Given the description of an element on the screen output the (x, y) to click on. 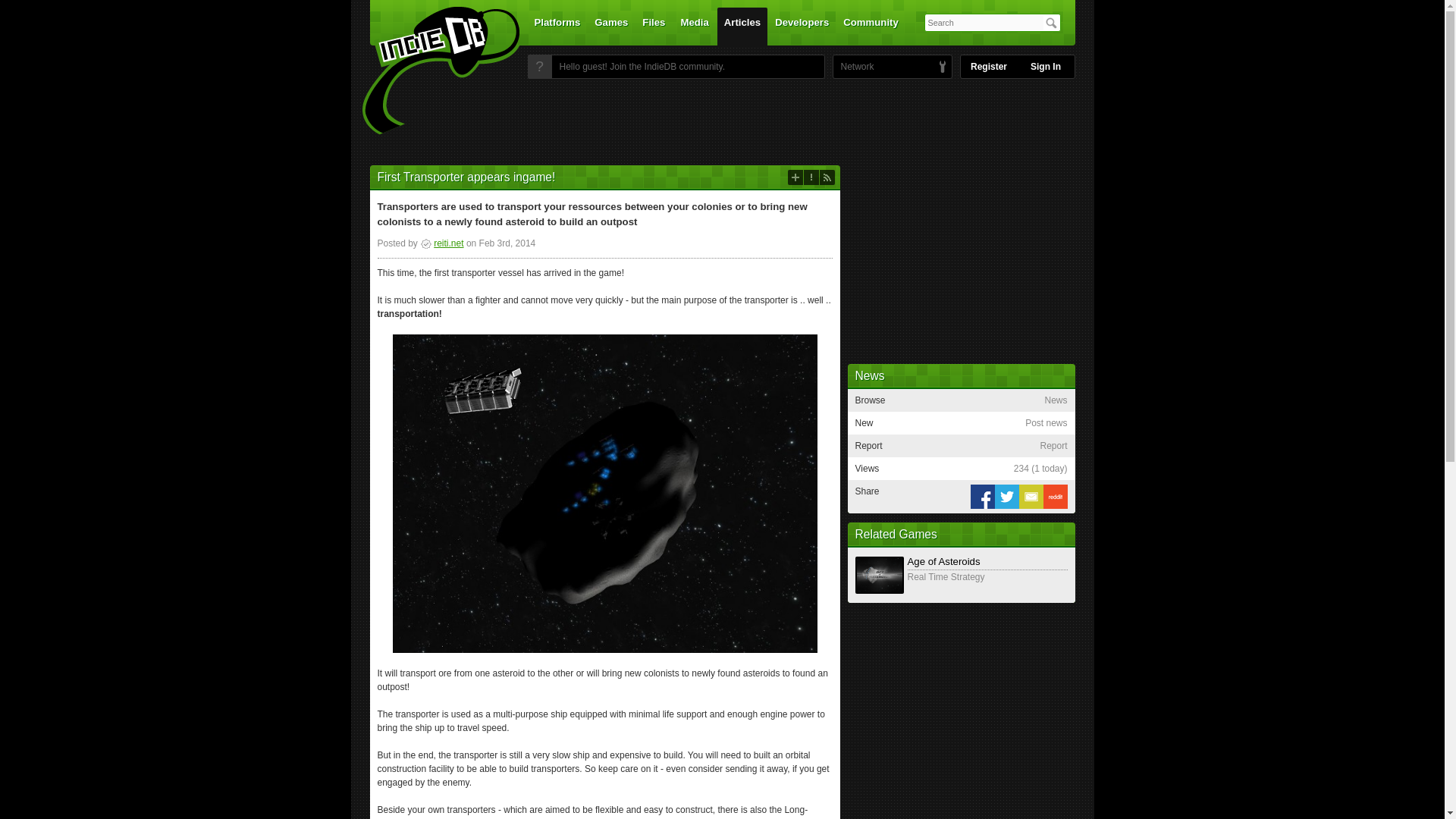
Articles (742, 26)
Join IndieDB (539, 66)
DBolical (852, 66)
Post news (794, 177)
First Transporter orbiting Asteroid Colony - Indie DB (604, 492)
Report (810, 177)
Developers (801, 26)
RSS (826, 177)
Article Manager (441, 243)
Search (1050, 22)
Files (652, 26)
Search IndieDB (1050, 22)
Home (430, 70)
Games (611, 26)
Community (870, 26)
